Given the description of an element on the screen output the (x, y) to click on. 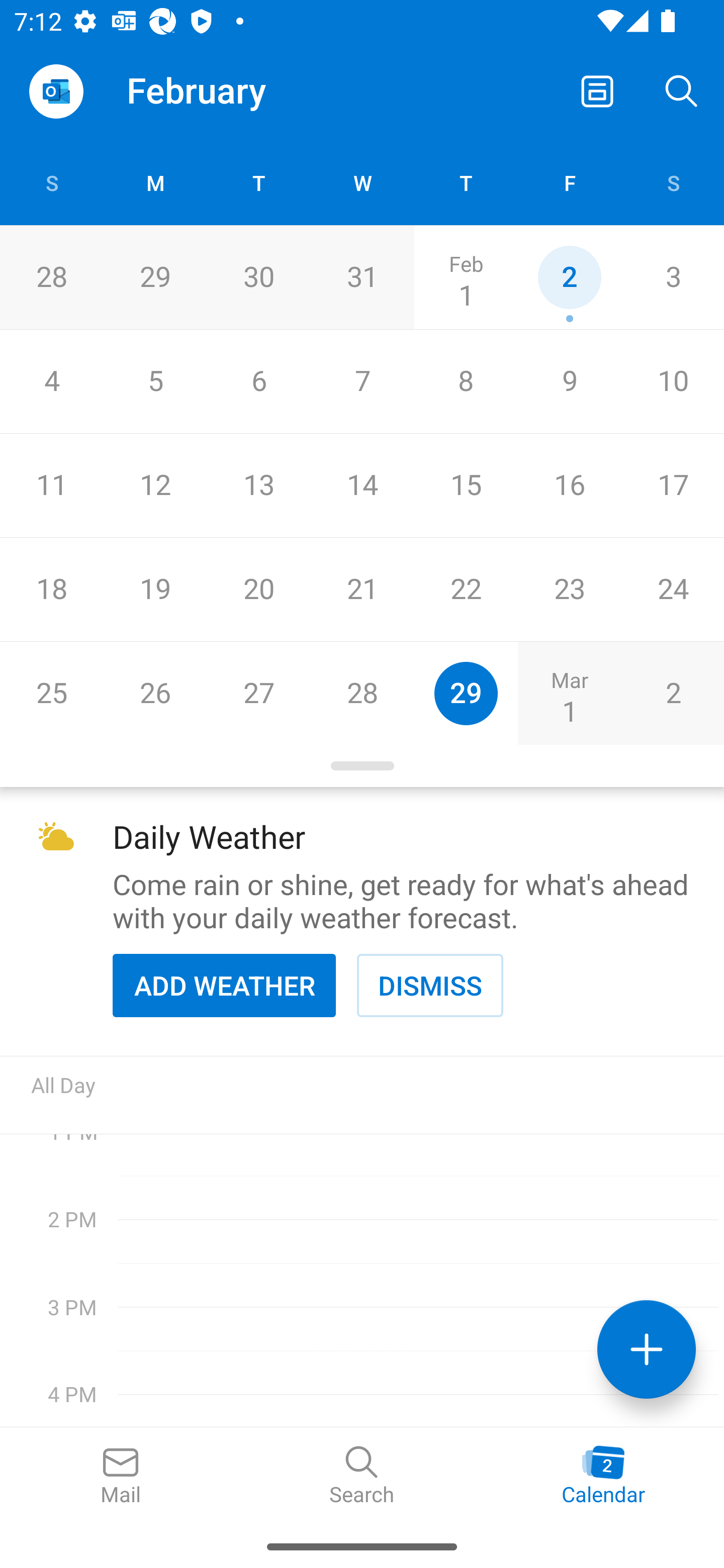
February February 2024, day picker collapse (209, 90)
Switch away from Day view (597, 90)
Search (681, 90)
Open Navigation Drawer (55, 91)
28 Sunday, January 28 (51, 277)
29 Monday, January 29 (155, 277)
30 Tuesday, January 30 (258, 277)
31 Wednesday, January 31 (362, 277)
Feb
1 Thursday, February 1 (465, 277)
2 Events on Friday, February 2, today (569, 277)
3 Saturday, February 3 (672, 277)
4 Sunday, February 4 (51, 380)
5 Monday, February 5 (155, 380)
6 Tuesday, February 6 (258, 380)
7 Wednesday, February 7 (362, 380)
8 Thursday, February 8 (465, 380)
9 Friday, February 9 (569, 380)
10 Saturday, February 10 (672, 380)
11 Sunday, February 11 (51, 485)
12 Monday, February 12 (155, 485)
13 Tuesday, February 13 (258, 485)
14 Wednesday, February 14 (362, 485)
15 Thursday, February 15 (465, 485)
16 Friday, February 16 (569, 485)
17 Saturday, February 17 (672, 485)
18 Sunday, February 18 (51, 589)
19 Monday, February 19 (155, 589)
20 Tuesday, February 20 (258, 589)
21 Wednesday, February 21 (362, 589)
22 Thursday, February 22 (465, 589)
23 Friday, February 23 (569, 589)
24 Saturday, February 24 (672, 589)
25 Sunday, February 25 (51, 692)
26 Monday, February 26 (155, 692)
27 Tuesday, February 27 (258, 692)
28 Wednesday, February 28 (362, 692)
29 Thursday, February 29, Selected (465, 692)
Mar
1 Friday, March 1 (569, 692)
2 Saturday, March 2 (672, 692)
Day picker collapse (362, 765)
ADD WEATHER (224, 985)
DISMISS (429, 985)
Add new event (646, 1348)
Mail (120, 1475)
Search (361, 1475)
